Given the description of an element on the screen output the (x, y) to click on. 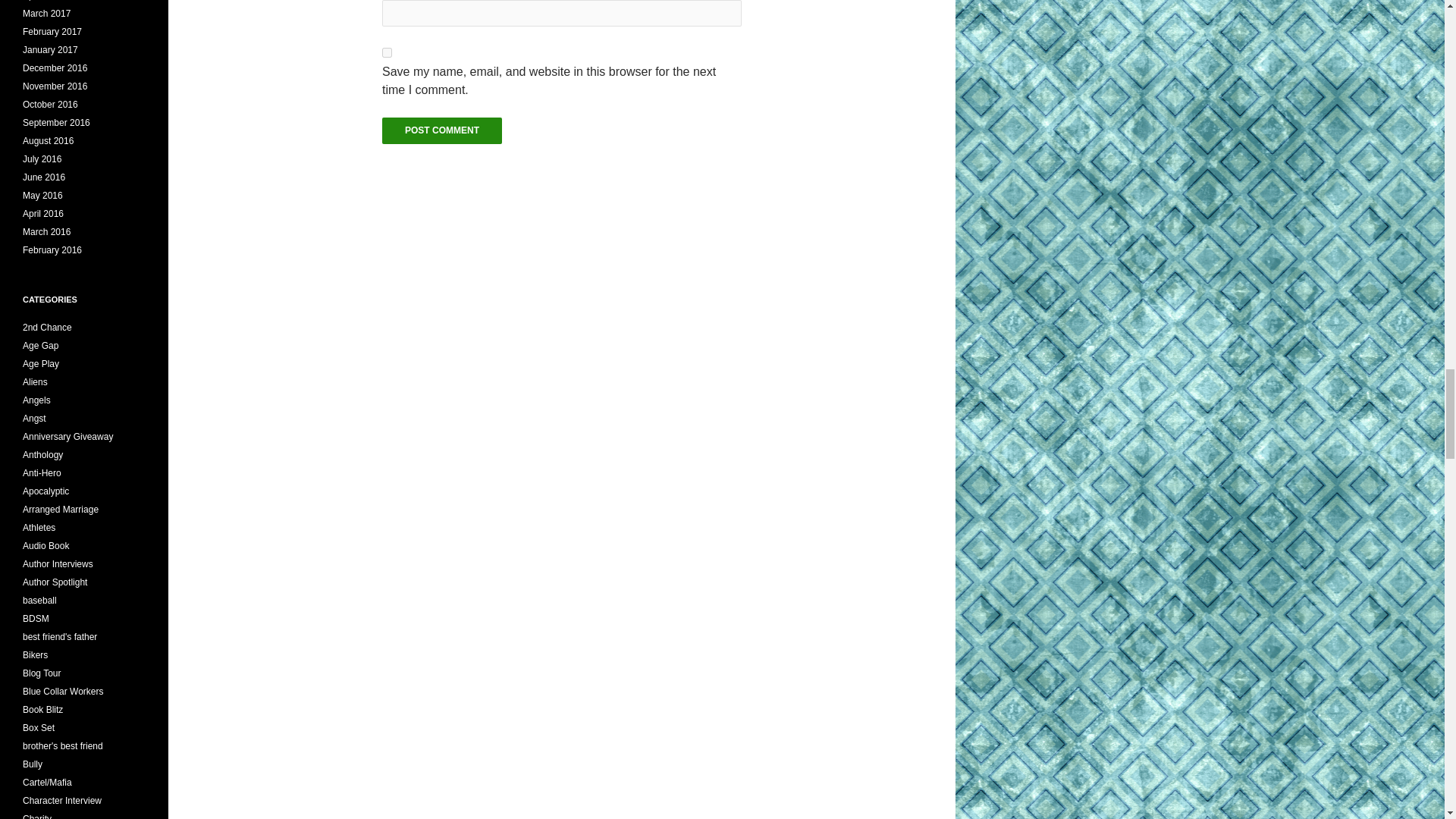
Post Comment (441, 130)
yes (386, 52)
Post Comment (441, 130)
